Given the description of an element on the screen output the (x, y) to click on. 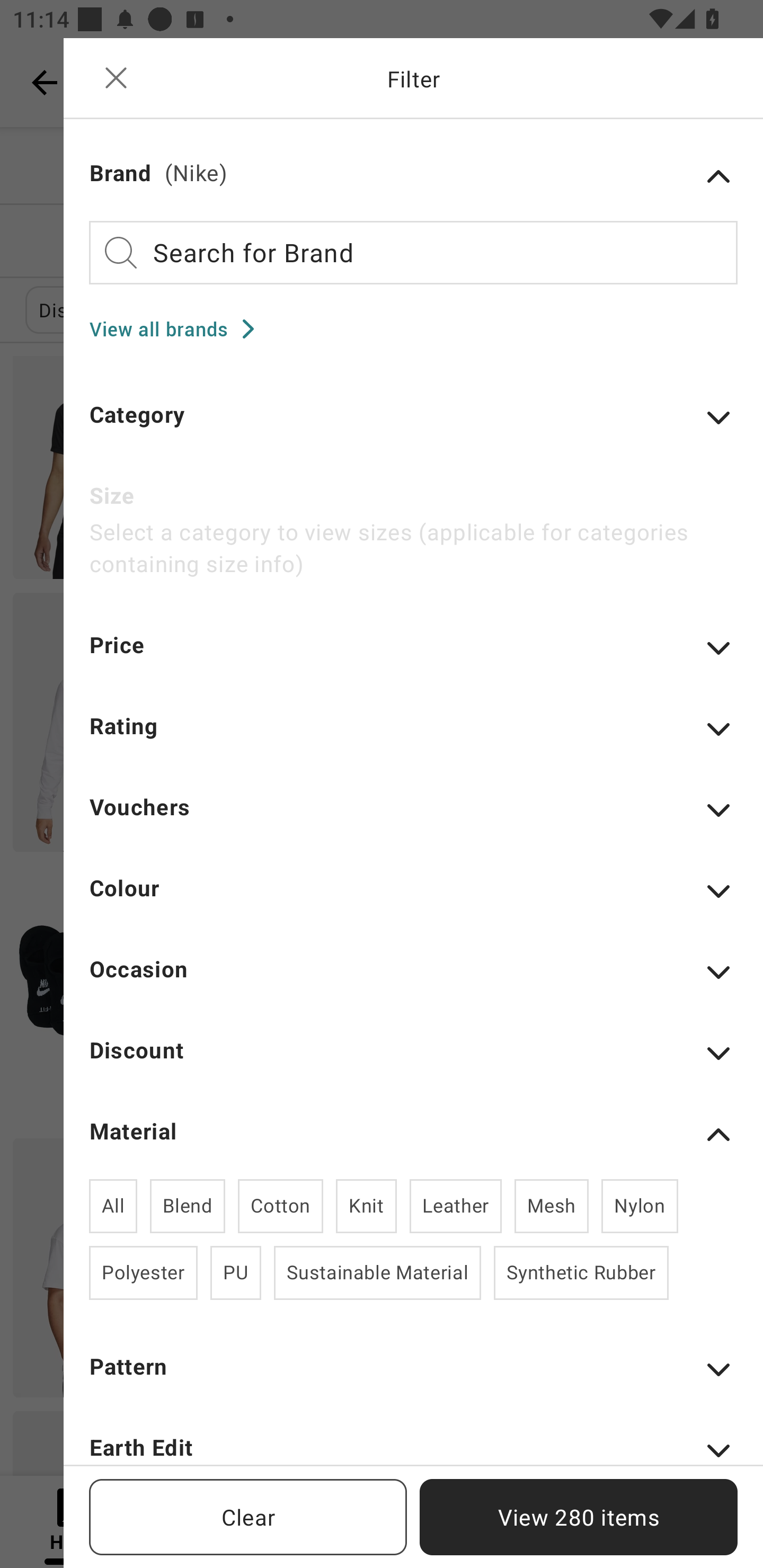
Brand (Nike) (413, 176)
Search for Brand (413, 252)
View all brands (177, 328)
Category (413, 426)
Price (413, 656)
Rating (413, 738)
Vouchers (413, 818)
Colour (413, 899)
Occasion (413, 981)
Discount (413, 1061)
Material (413, 1134)
All (113, 1205)
Blend (187, 1205)
Cotton (280, 1205)
Knit (365, 1205)
Leather (455, 1205)
Mesh (551, 1205)
Nylon (639, 1205)
Polyester (143, 1272)
PU (235, 1272)
Sustainable Material (377, 1272)
Synthetic Rubber (580, 1272)
Pattern (413, 1378)
Earth Edit (413, 1447)
Clear (247, 1516)
View 280 items (578, 1516)
